Given the description of an element on the screen output the (x, y) to click on. 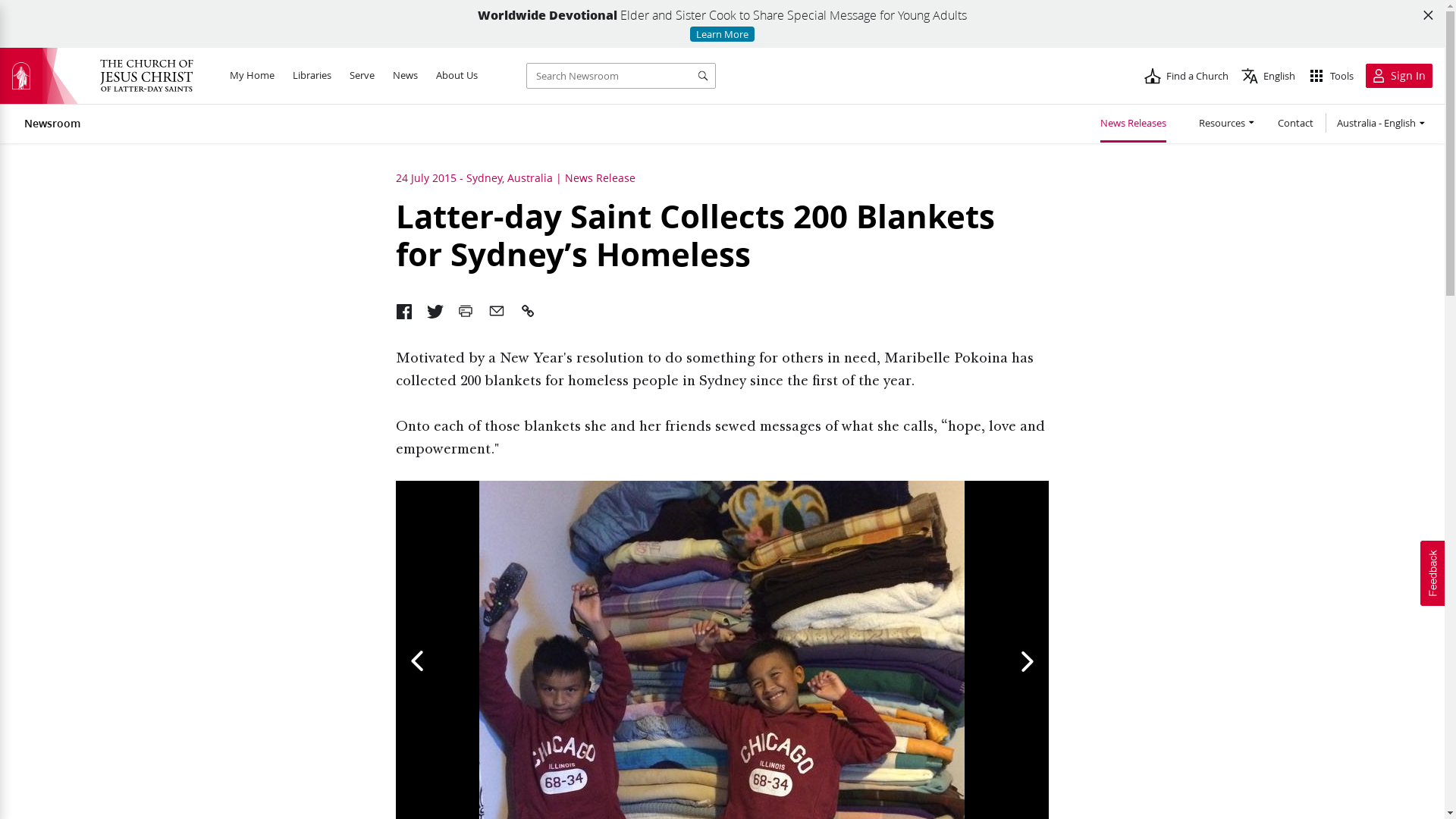
Usabilla Feedback Button Element type: hover (1432, 572)
Newsroom Element type: text (52, 123)
Contact Element type: text (1295, 123)
,, Element type: text (465, 316)
News Releases Element type: text (1133, 124)
